Given the description of an element on the screen output the (x, y) to click on. 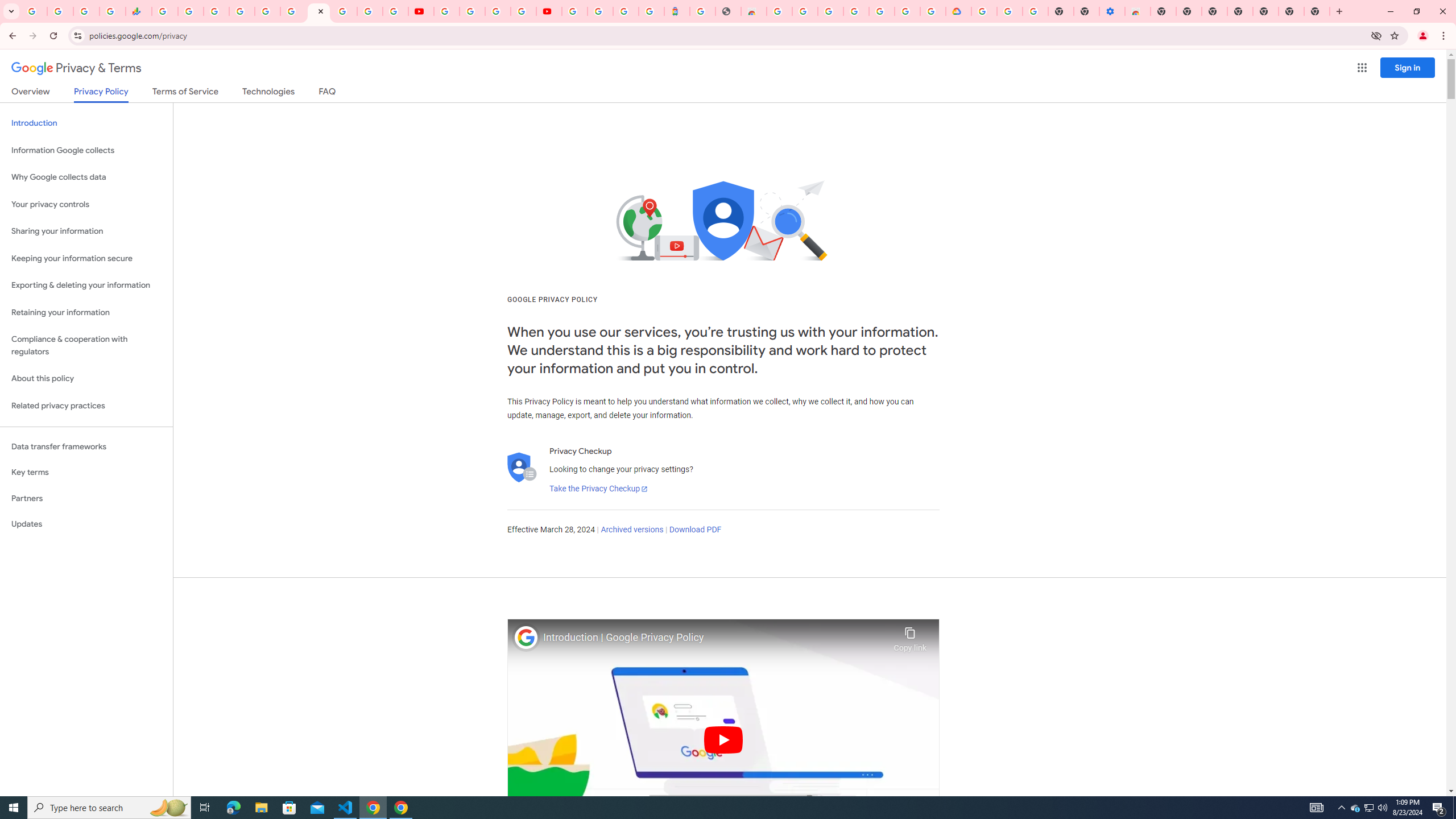
Sharing your information (86, 230)
Play (723, 739)
Sign in - Google Accounts (600, 11)
Ad Settings (804, 11)
Google Account Help (1009, 11)
Privacy Checkup (395, 11)
New Tab (1162, 11)
YouTube (446, 11)
